Given the description of an element on the screen output the (x, y) to click on. 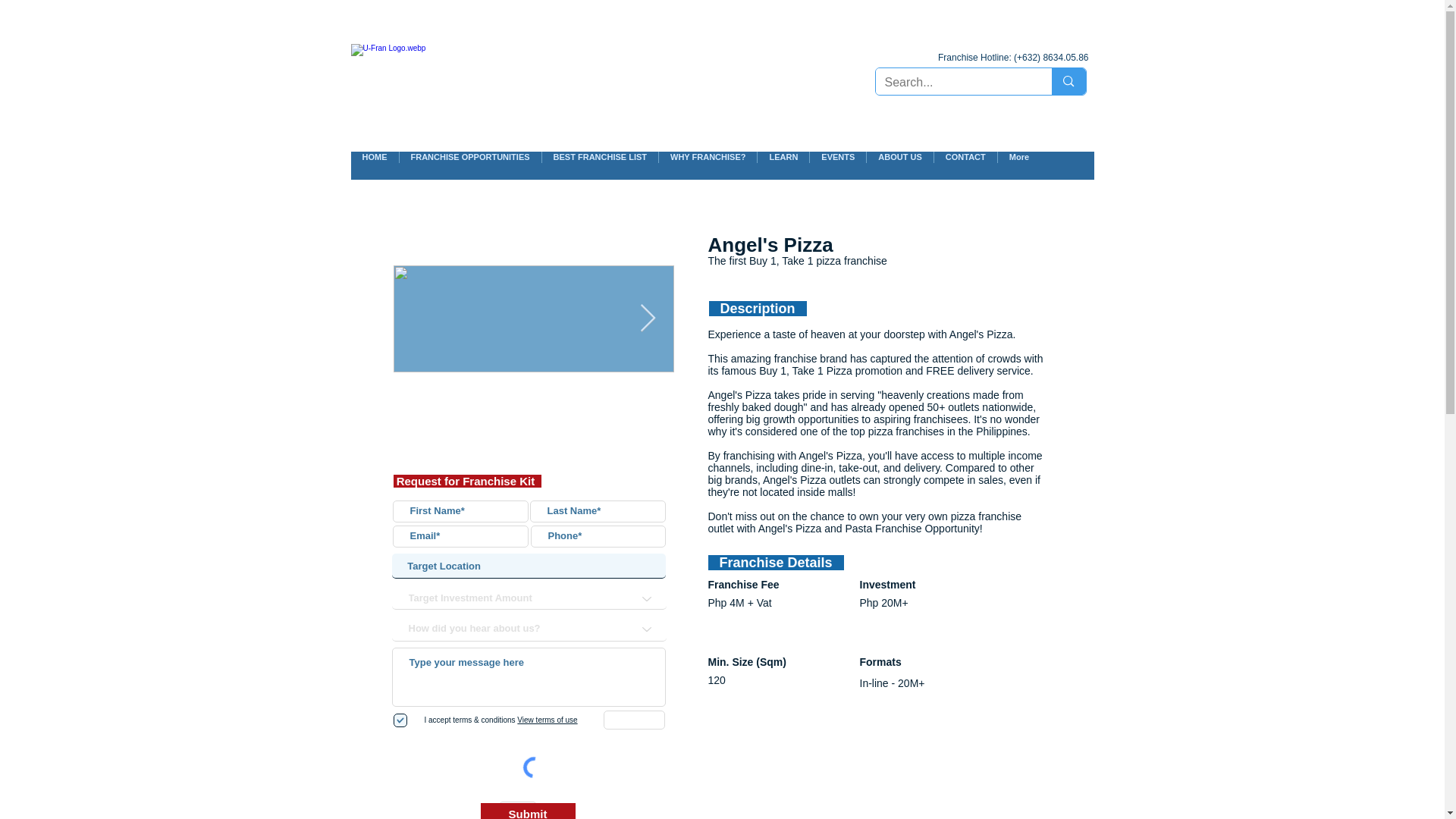
ABOUT US (899, 165)
759253 (530, 811)
EVENTS (837, 165)
CONTACT (965, 165)
LEARN (783, 165)
WHY FRANCHISE? (707, 165)
Angel's Pizza (527, 811)
Food (518, 810)
FRANCHISE OPPORTUNITIES (469, 165)
UFranchise Logo.png (482, 74)
